Given the description of an element on the screen output the (x, y) to click on. 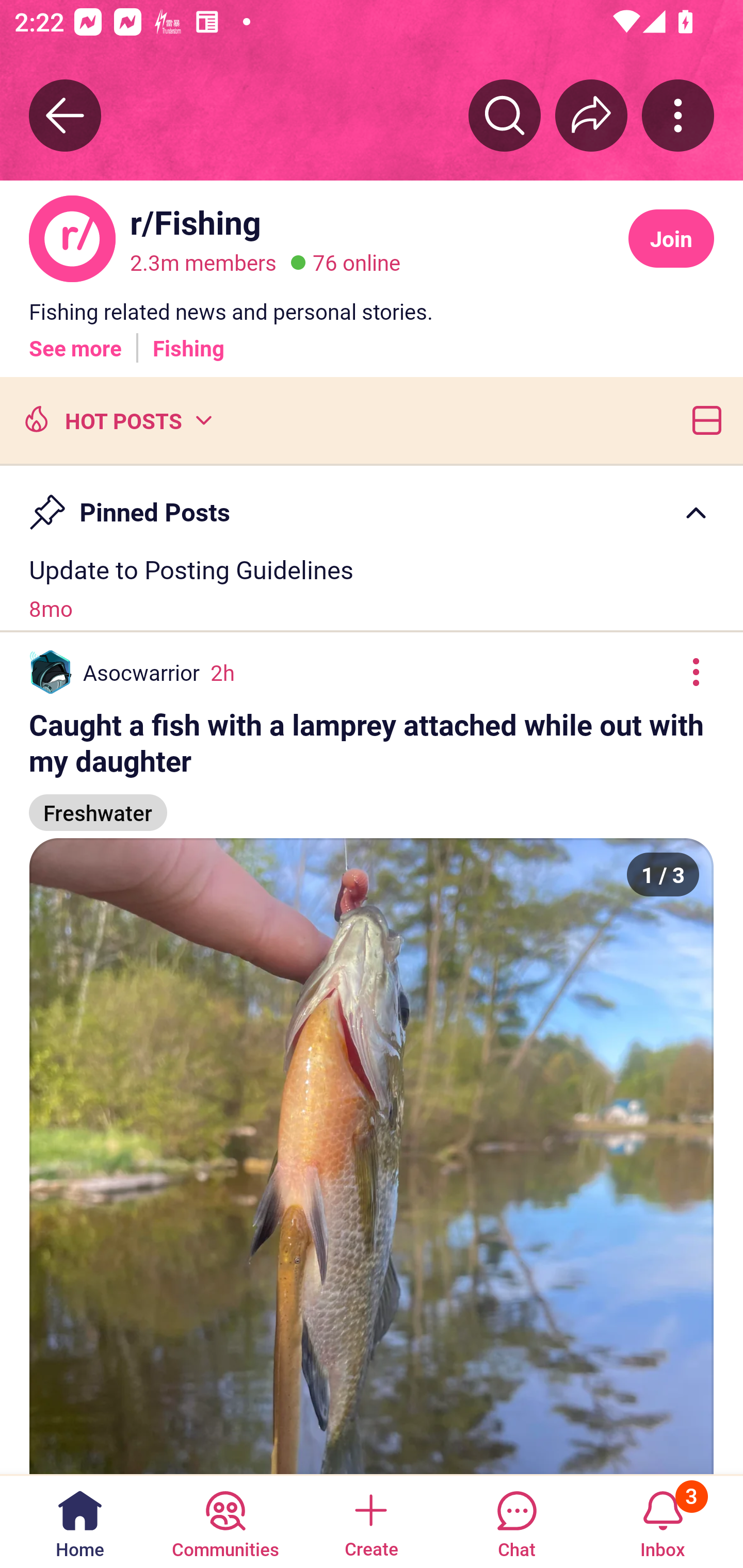
Back (64, 115)
Search r/﻿Fishing (504, 115)
Share r/﻿Fishing (591, 115)
More community actions (677, 115)
Hot posts HOT POSTS (116, 419)
Card (703, 419)
Pin Pinned Posts Caret (371, 503)
Update to Posting Guidelines 8mo (371, 587)
Freshwater (97, 803)
Home (80, 1520)
Communities (225, 1520)
Create a post Create (370, 1520)
Chat (516, 1520)
Inbox, has 3 notifications 3 Inbox (662, 1520)
